Given the description of an element on the screen output the (x, y) to click on. 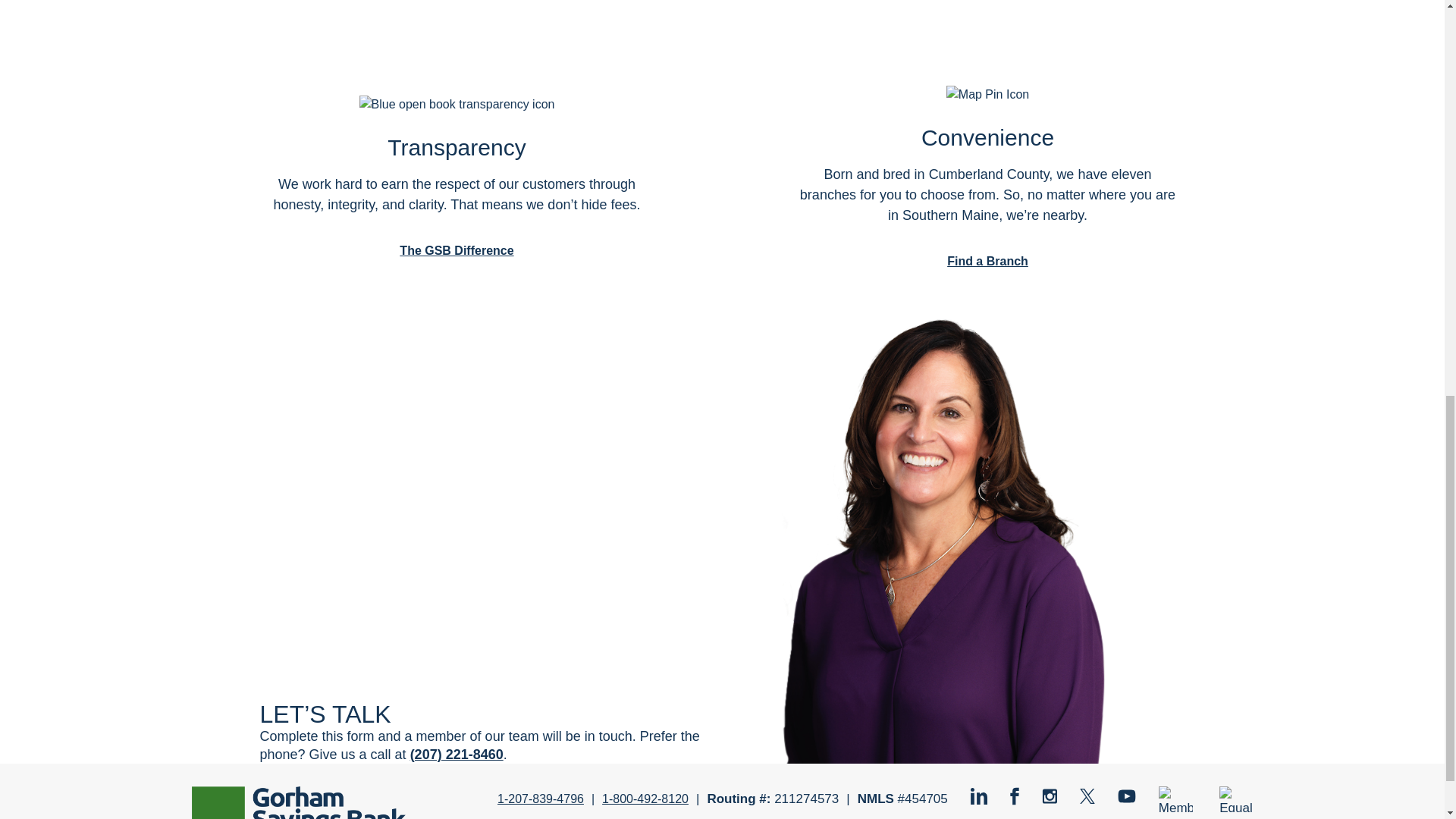
YouTube icon (1126, 796)
X icon (1087, 795)
LinkedIn icon (979, 795)
Instagram icon (1049, 795)
